Given the description of an element on the screen output the (x, y) to click on. 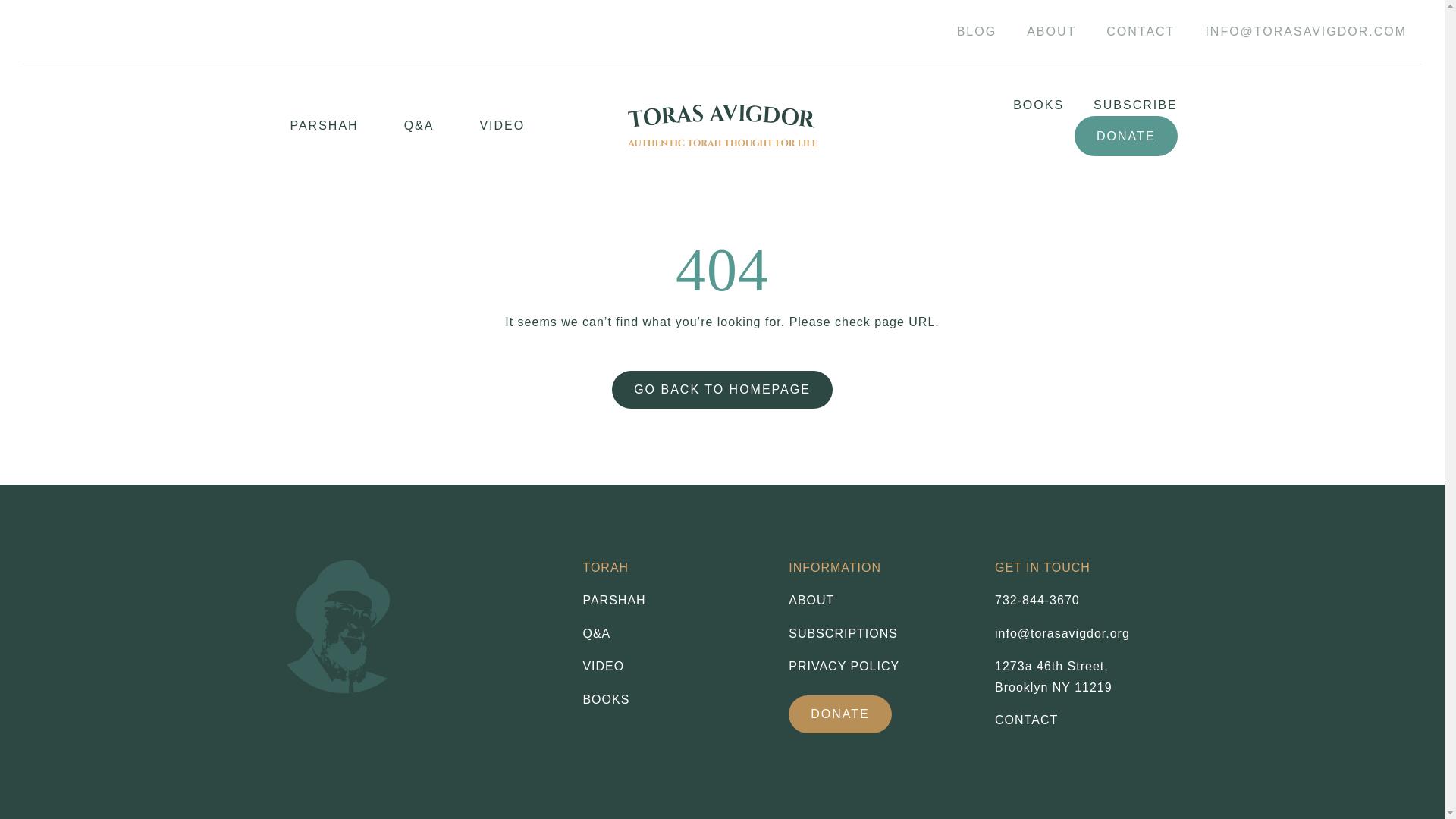
SUBSCRIPTIONS (880, 633)
VIDEO (673, 666)
VIDEO (502, 125)
ABOUT (1050, 31)
BLOG (976, 31)
SUBSCRIBE (1120, 105)
footer-img (344, 622)
PRIVACY POLICY (880, 666)
PARSHAH (673, 599)
